Given the description of an element on the screen output the (x, y) to click on. 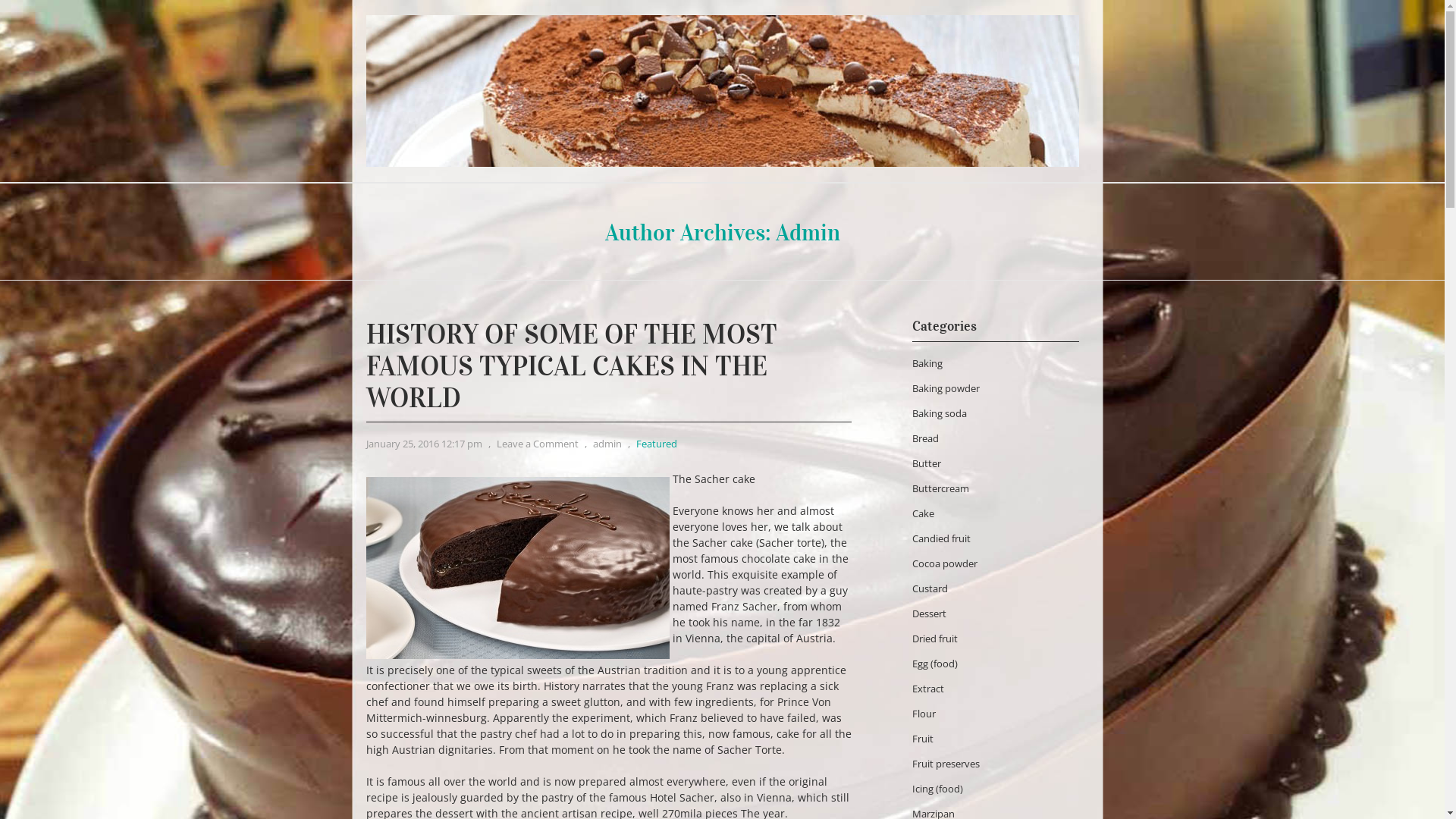
January 25, 2016 12:17 pm Element type: text (423, 443)
Extract Element type: text (927, 688)
Baking Element type: text (926, 363)
Egg (food) Element type: text (934, 663)
Dessert Element type: text (928, 613)
Custard Element type: text (929, 588)
Buttercream Element type: text (939, 488)
Cake Element type: text (922, 513)
Baking soda Element type: text (938, 413)
Fruit preserves Element type: text (945, 763)
Baking powder Element type: text (945, 388)
Icing (food) Element type: text (936, 788)
admin Element type: text (607, 443)
Leave a Comment Element type: text (536, 443)
Butter Element type: text (925, 463)
Candied fruit Element type: text (940, 538)
Bread Element type: text (924, 438)
Dried fruit Element type: text (934, 638)
Cocoa powder Element type: text (943, 563)
Fruit Element type: text (921, 738)
Flour Element type: text (923, 713)
